Given the description of an element on the screen output the (x, y) to click on. 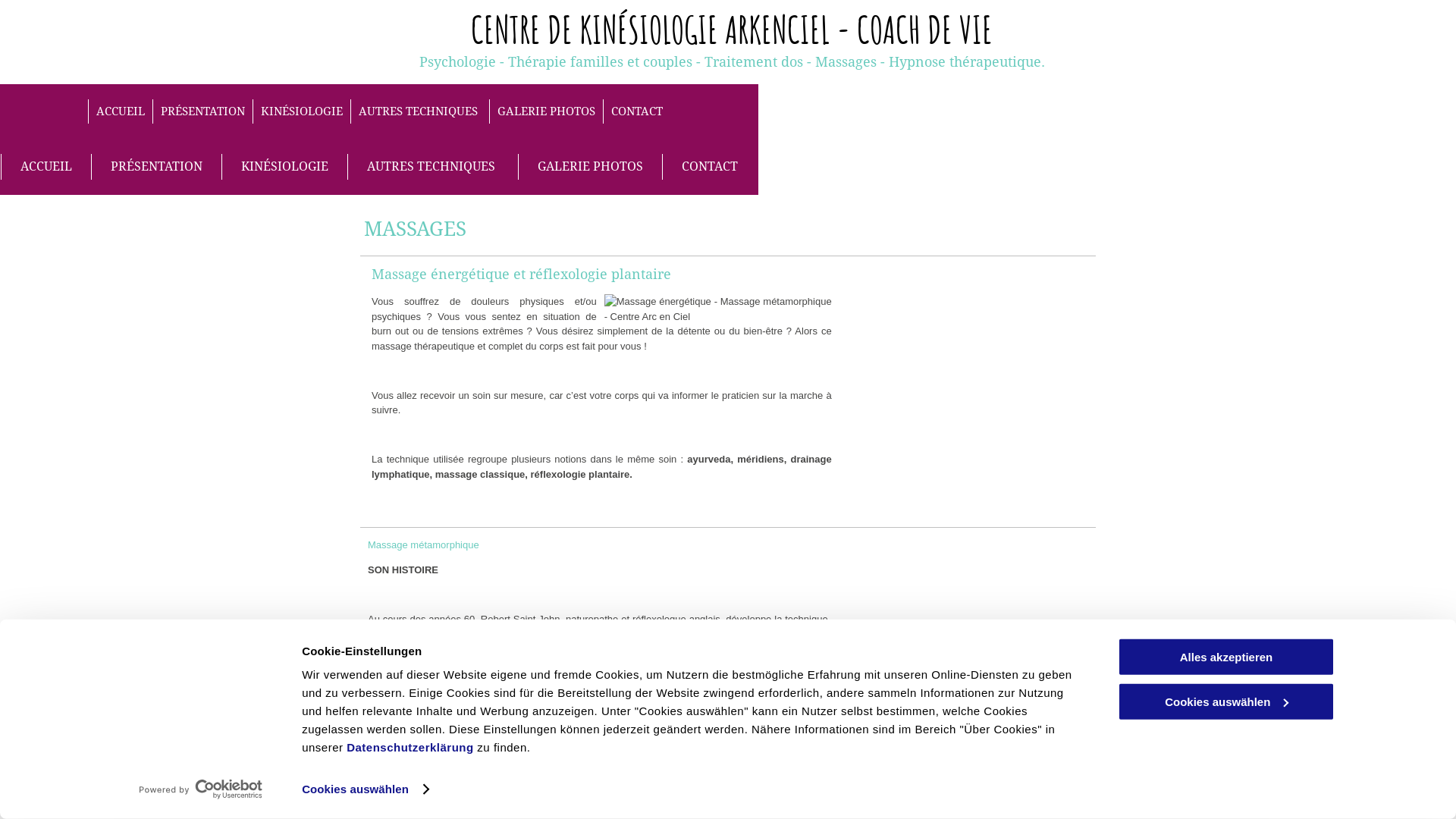
AUTRES TECHNIQUES Element type: text (419, 111)
CONTACT Element type: text (636, 111)
CONTACT Element type: text (709, 166)
GALERIE PHOTOS Element type: text (589, 166)
GALERIE PHOTOS Element type: text (545, 111)
AUTRES TECHNIQUES Element type: text (432, 166)
ACCUEIL Element type: text (45, 166)
Alles akzeptieren Element type: text (1225, 656)
ACCUEIL Element type: text (119, 111)
